Given the description of an element on the screen output the (x, y) to click on. 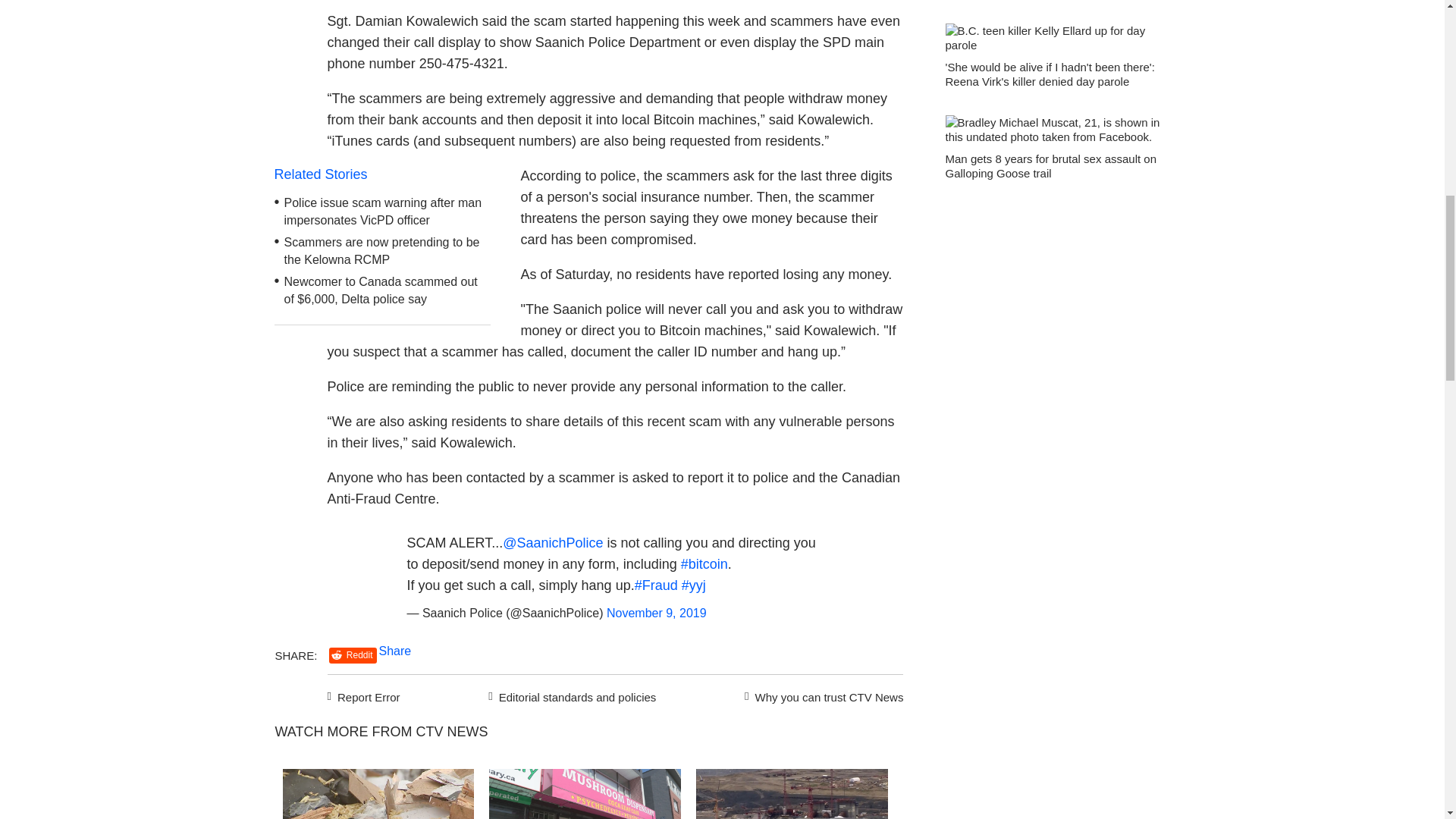
Editorial standards and policies (569, 694)
'Magic mushroom' shop claims court victory (585, 794)
Why you can trust CTV News (820, 694)
false (791, 794)
Share (395, 650)
Crash spills French fries on L.A. freeway  (378, 794)
false (378, 794)
Scammers are now pretending to be the Kelowna RCMP (381, 250)
November 9, 2019 (656, 612)
Reddit (353, 655)
